Given the description of an element on the screen output the (x, y) to click on. 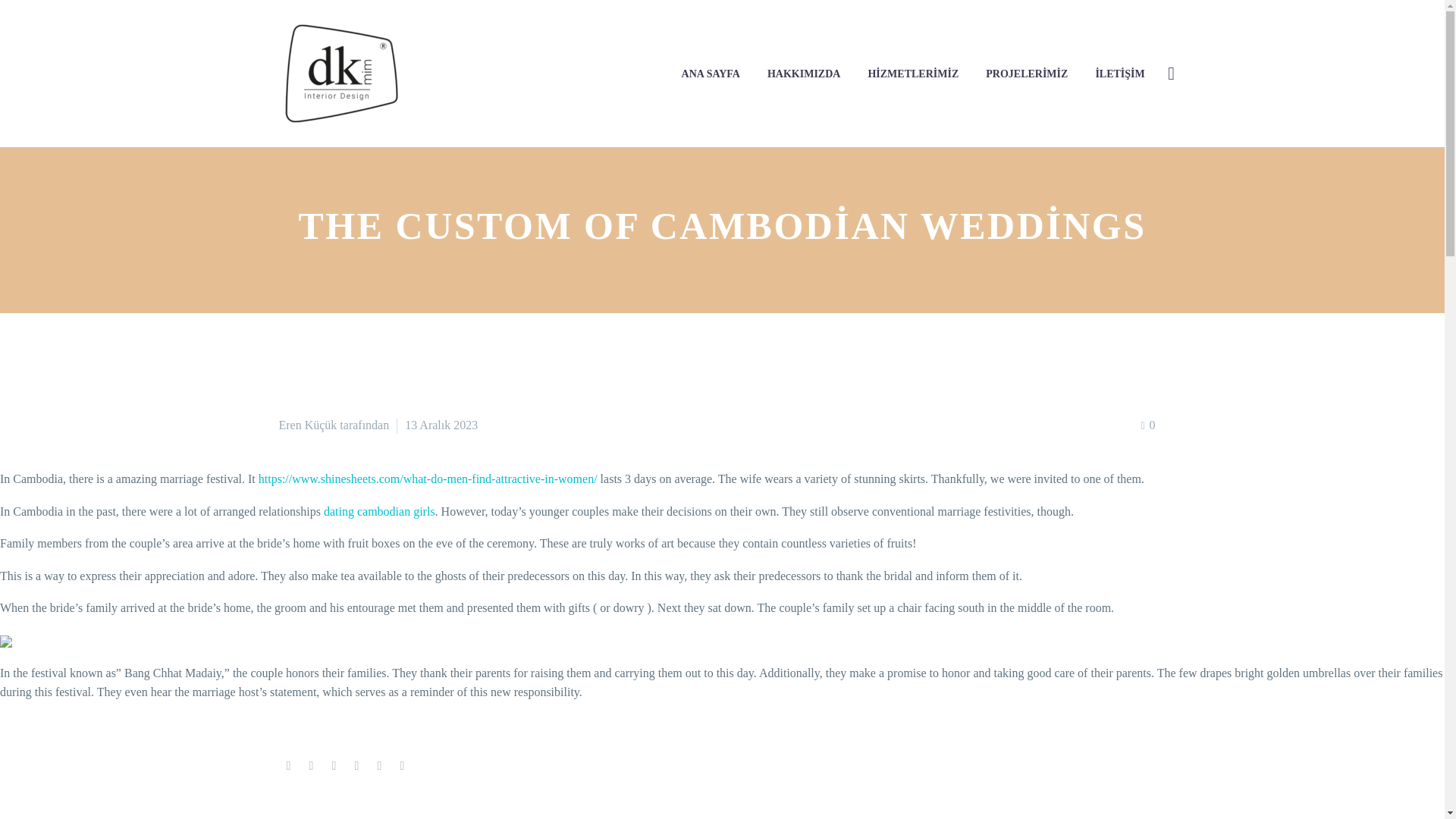
Facebook (288, 766)
Twitter (310, 766)
HAKKIMIZDA (803, 72)
ANA SAYFA (710, 72)
Tumblr (356, 766)
PROJELERIMIZ (1026, 72)
LinkedIn (378, 766)
0 (1147, 424)
Reddit (401, 766)
Pinterest (333, 766)
HIZMETLERIMIZ (912, 72)
dating cambodian girls (379, 511)
